Given the description of an element on the screen output the (x, y) to click on. 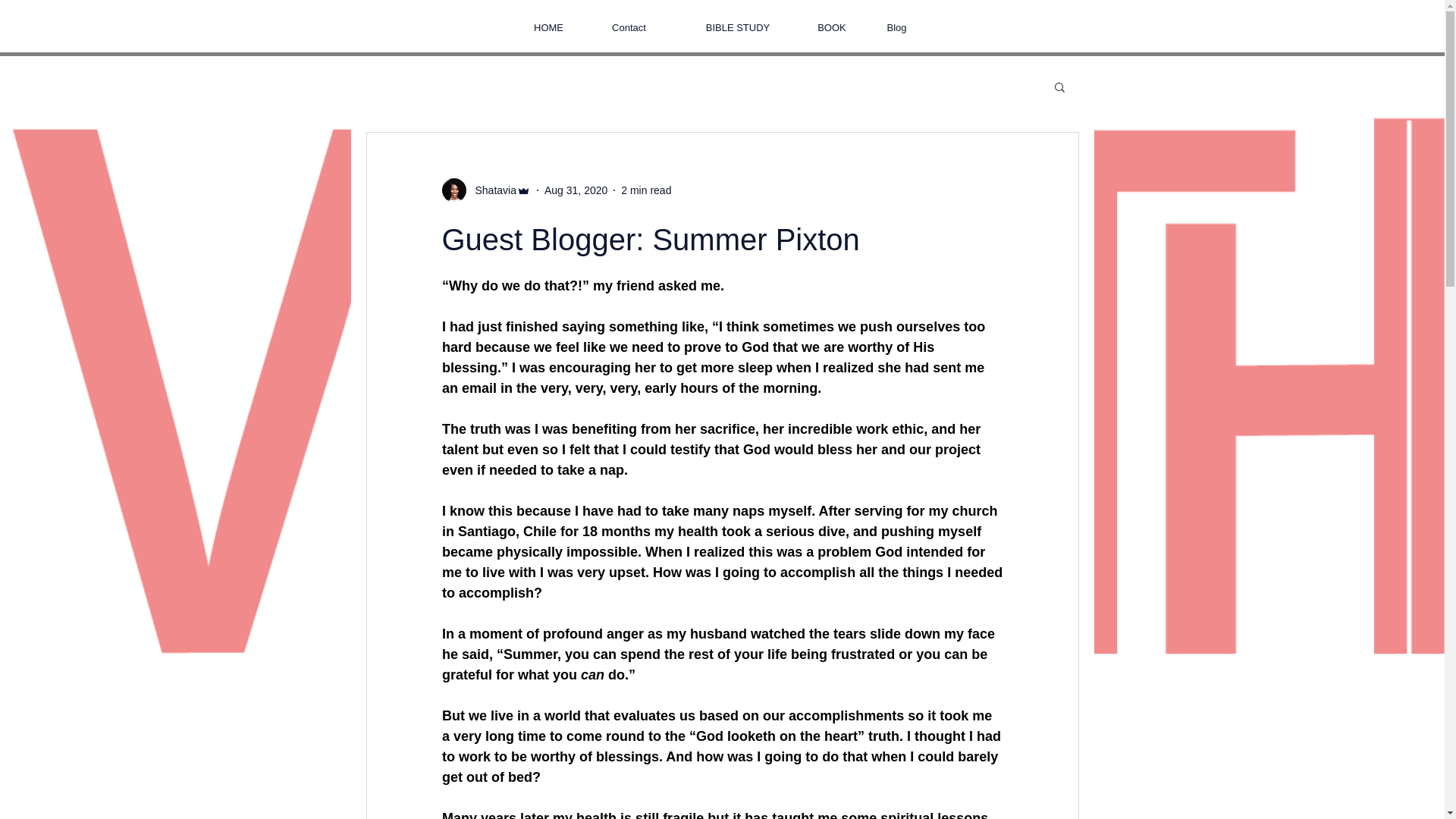
2 min read (646, 189)
Blog (896, 27)
BOOK (831, 27)
Contact (628, 27)
BIBLE STUDY (738, 27)
HOME (547, 27)
Aug 31, 2020 (575, 189)
Shatavia (485, 190)
Shatavia (490, 189)
